Given the description of an element on the screen output the (x, y) to click on. 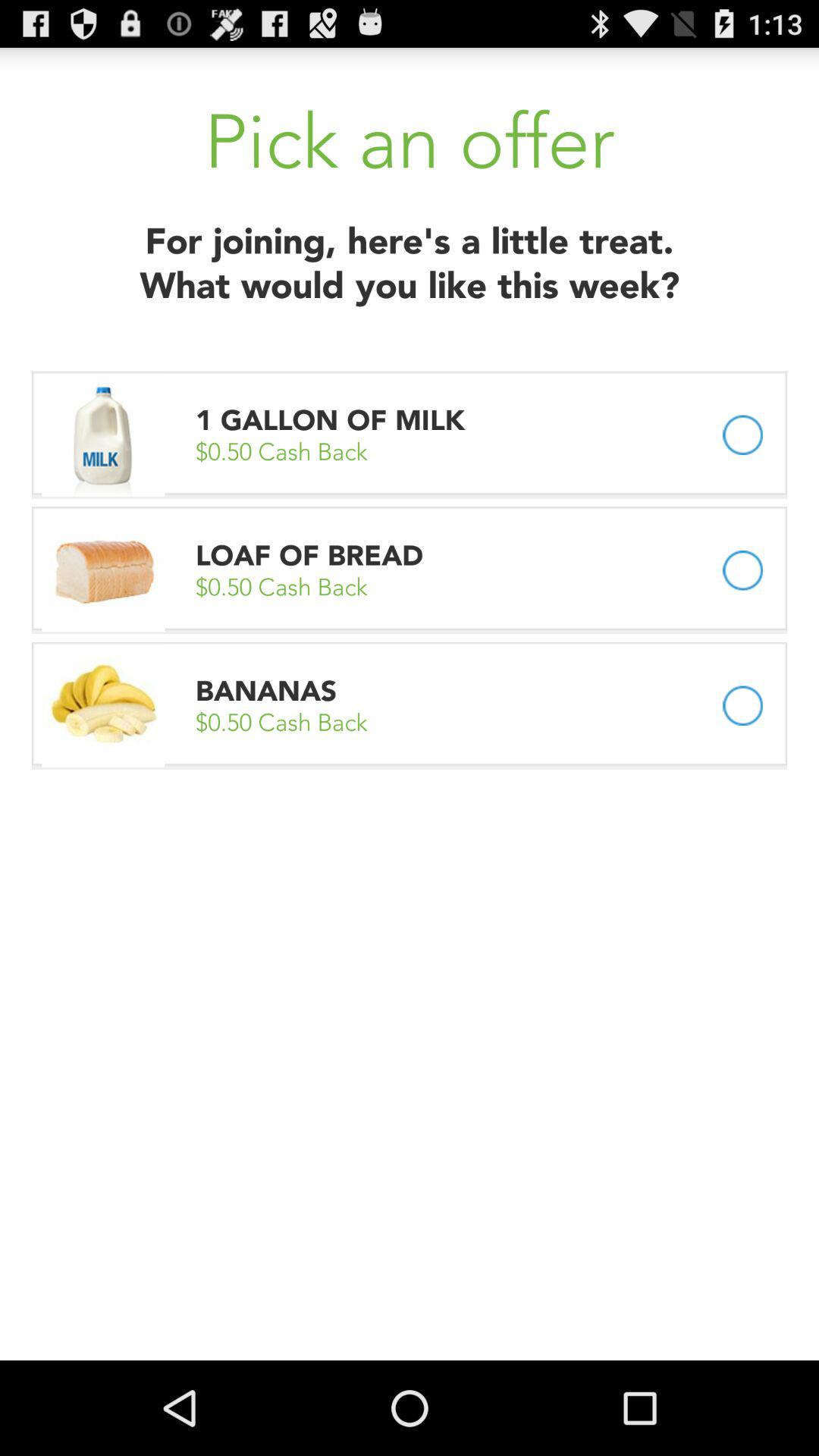
launch the loaf of bread icon (309, 555)
